Given the description of an element on the screen output the (x, y) to click on. 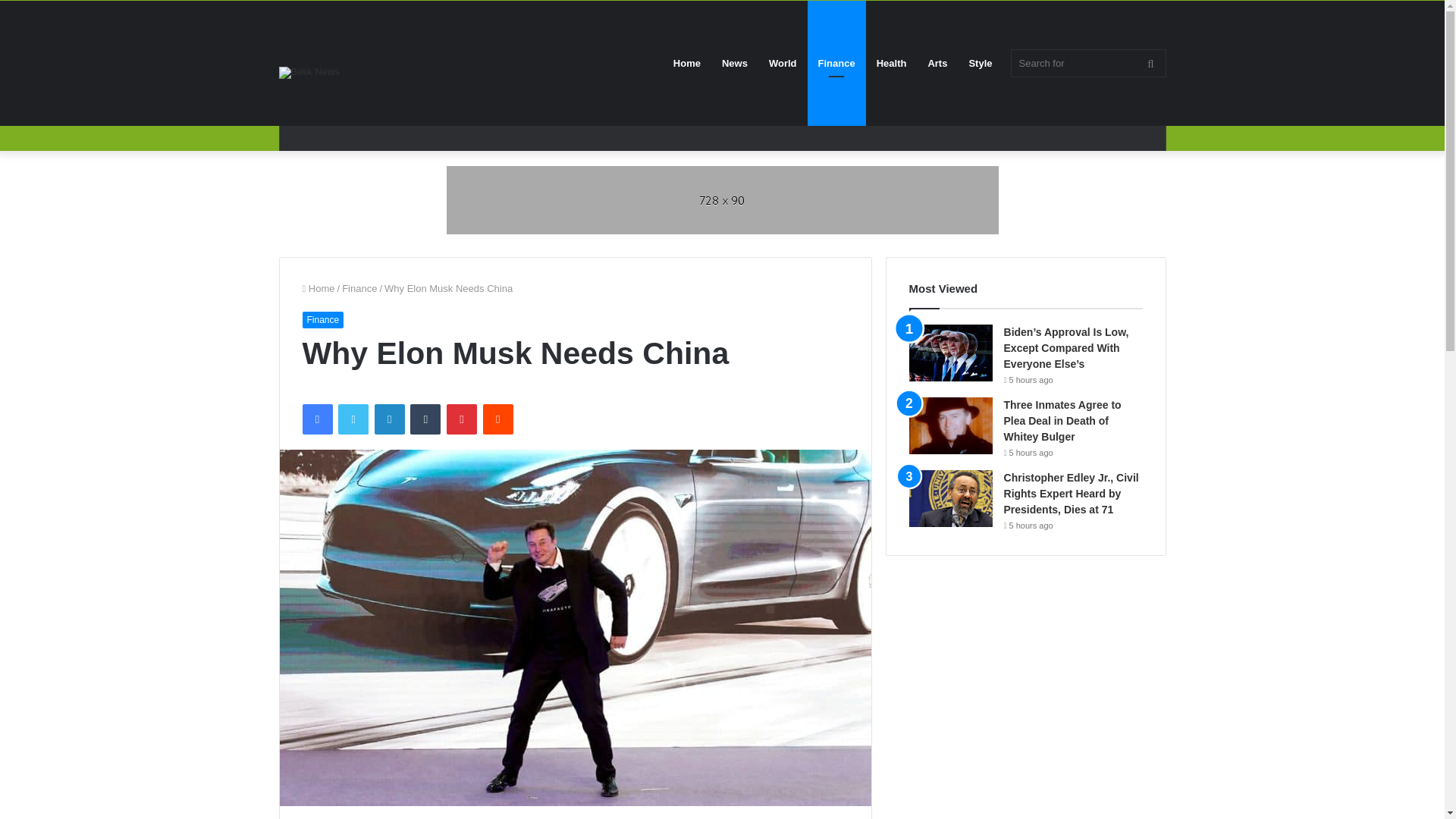
Reddit (498, 419)
Tumblr (425, 419)
LinkedIn (389, 419)
Twitter (352, 419)
Search for (1088, 62)
LinkedIn (389, 419)
Home (317, 288)
Facebook (316, 419)
Facebook (316, 419)
Pinterest (461, 419)
